Given the description of an element on the screen output the (x, y) to click on. 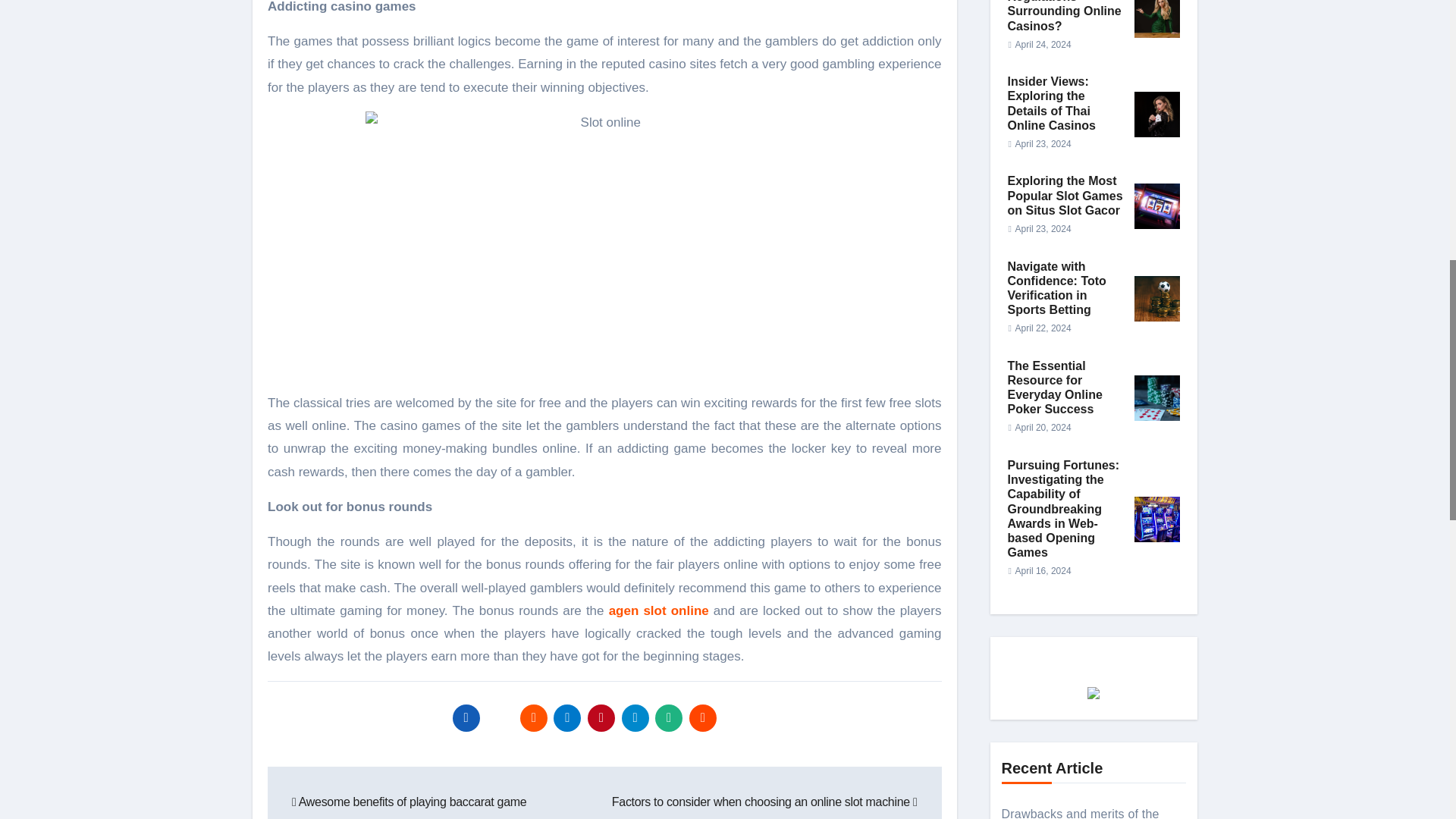
agen slot online (658, 610)
Awesome benefits of playing baccarat game (408, 801)
Factors to consider when choosing an online slot machine (764, 801)
